Given the description of an element on the screen output the (x, y) to click on. 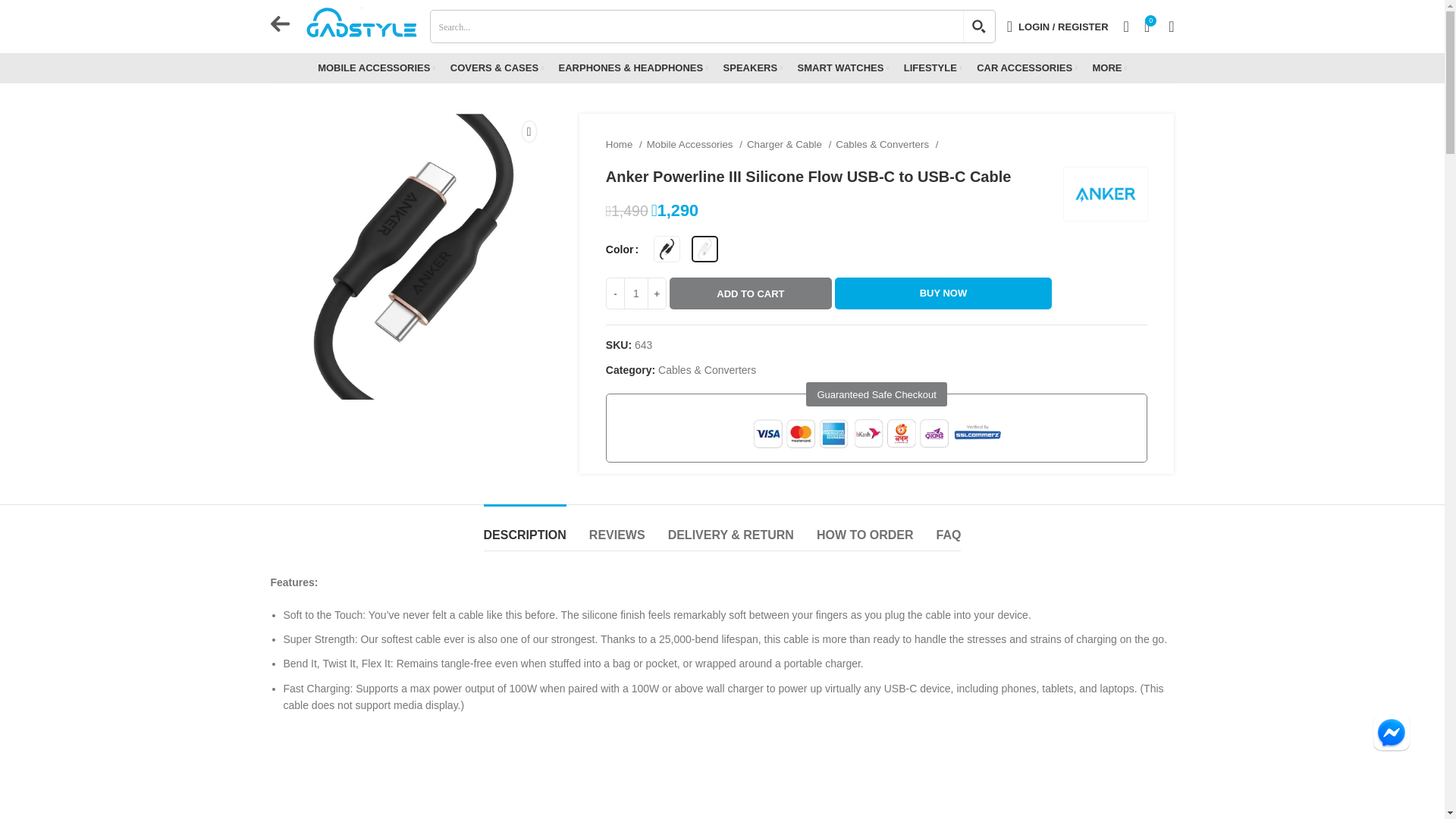
My account (1057, 26)
Anker (1105, 193)
MOBILE ACCESSORIES (376, 68)
